Given the description of an element on the screen output the (x, y) to click on. 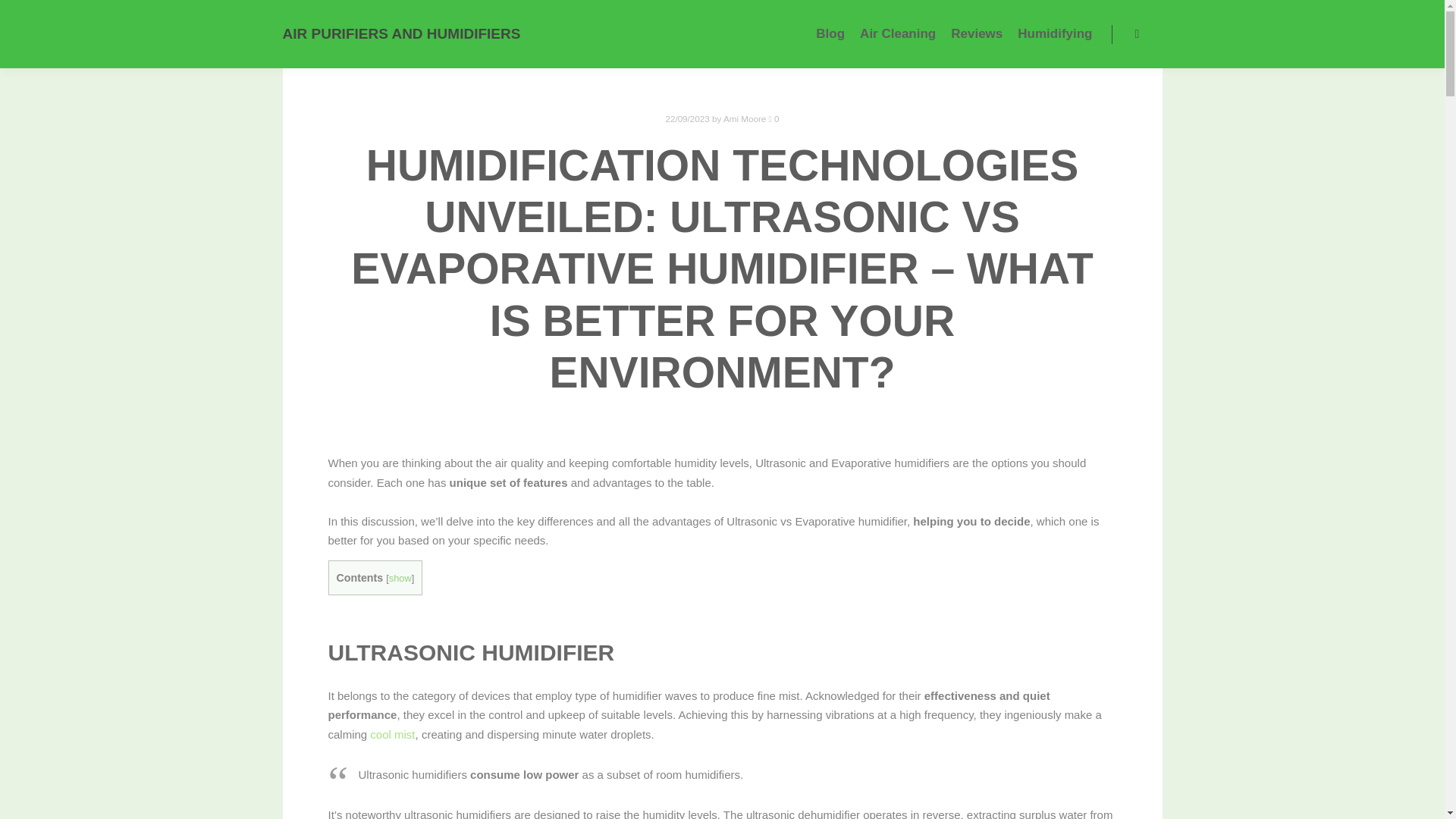
Ami Moore (744, 118)
View all posts by Ami Moore (744, 118)
cool mist (391, 734)
show (400, 577)
0 (773, 118)
Humidifying (1054, 33)
AIR PURIFIERS AND HUMIDIFIERS (357, 33)
AIR PURIFIERS AND HUMIDIFIERS (357, 33)
Search (1137, 34)
Reviews (976, 33)
Air Cleaning (897, 33)
Search (1137, 34)
